Given the description of an element on the screen output the (x, y) to click on. 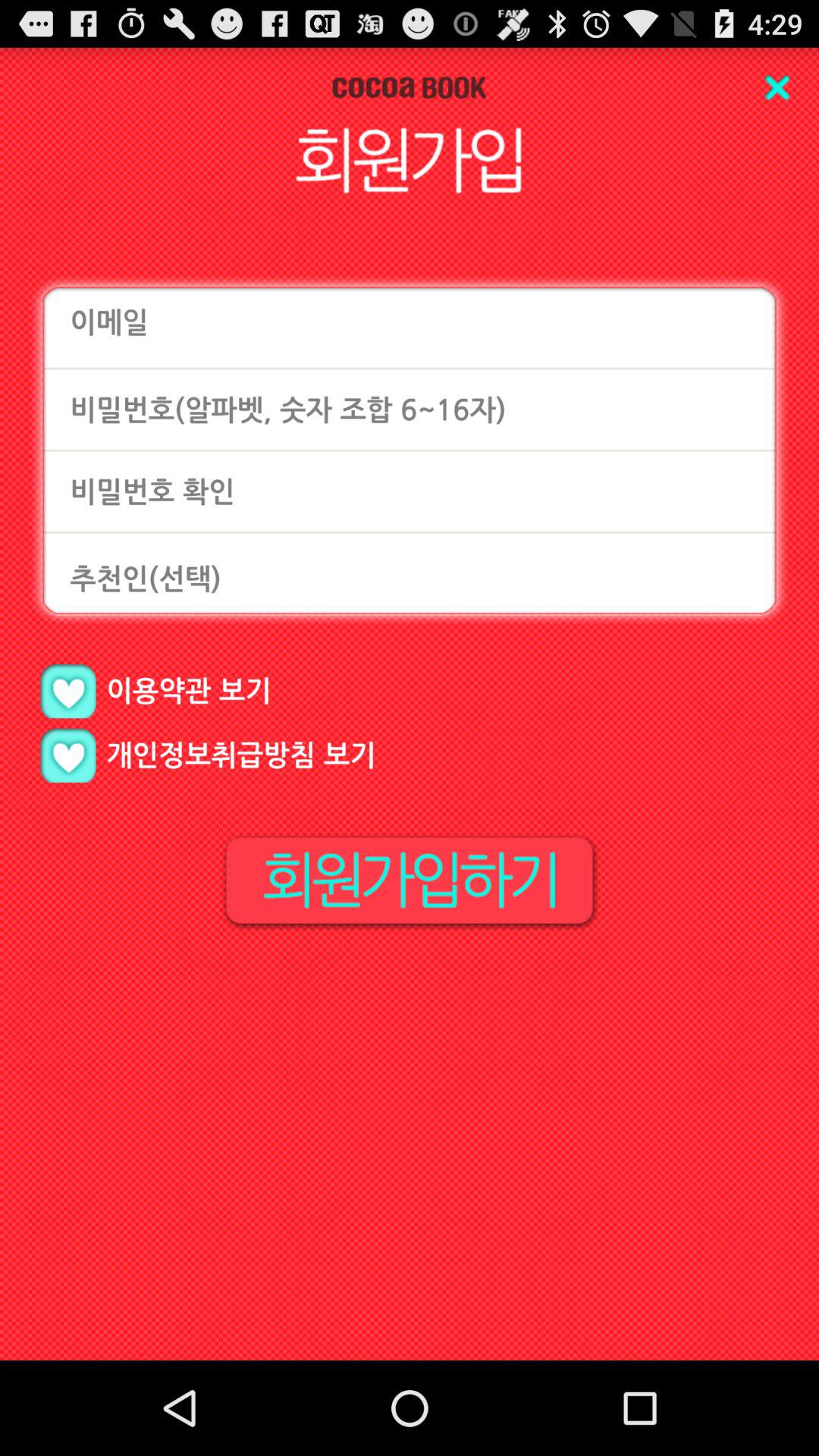
favorite option (68, 755)
